Given the description of an element on the screen output the (x, y) to click on. 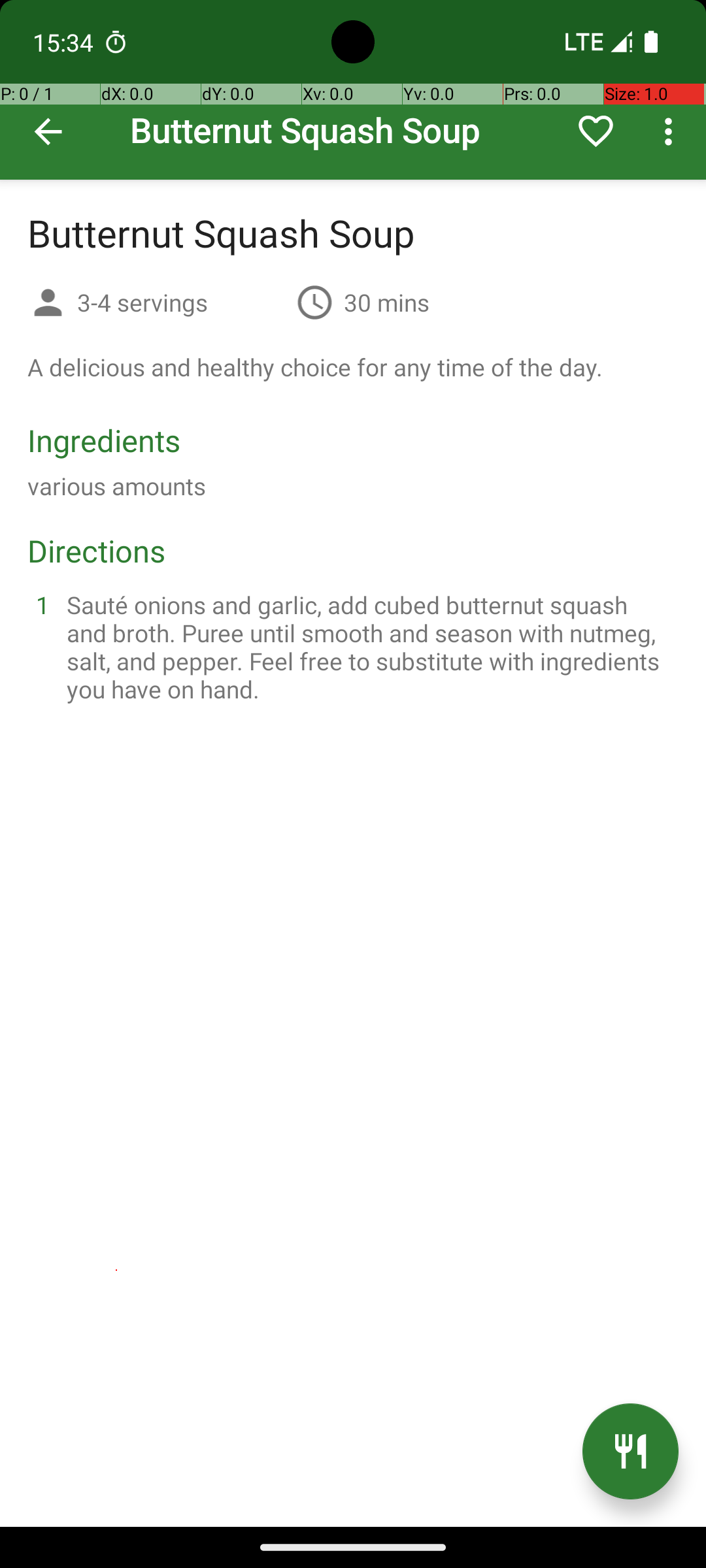
Sauté onions and garlic, add cubed butternut squash and broth. Puree until smooth and season with nutmeg, salt, and pepper. Feel free to substitute with ingredients you have on hand. Element type: android.widget.TextView (368, 646)
